Given the description of an element on the screen output the (x, y) to click on. 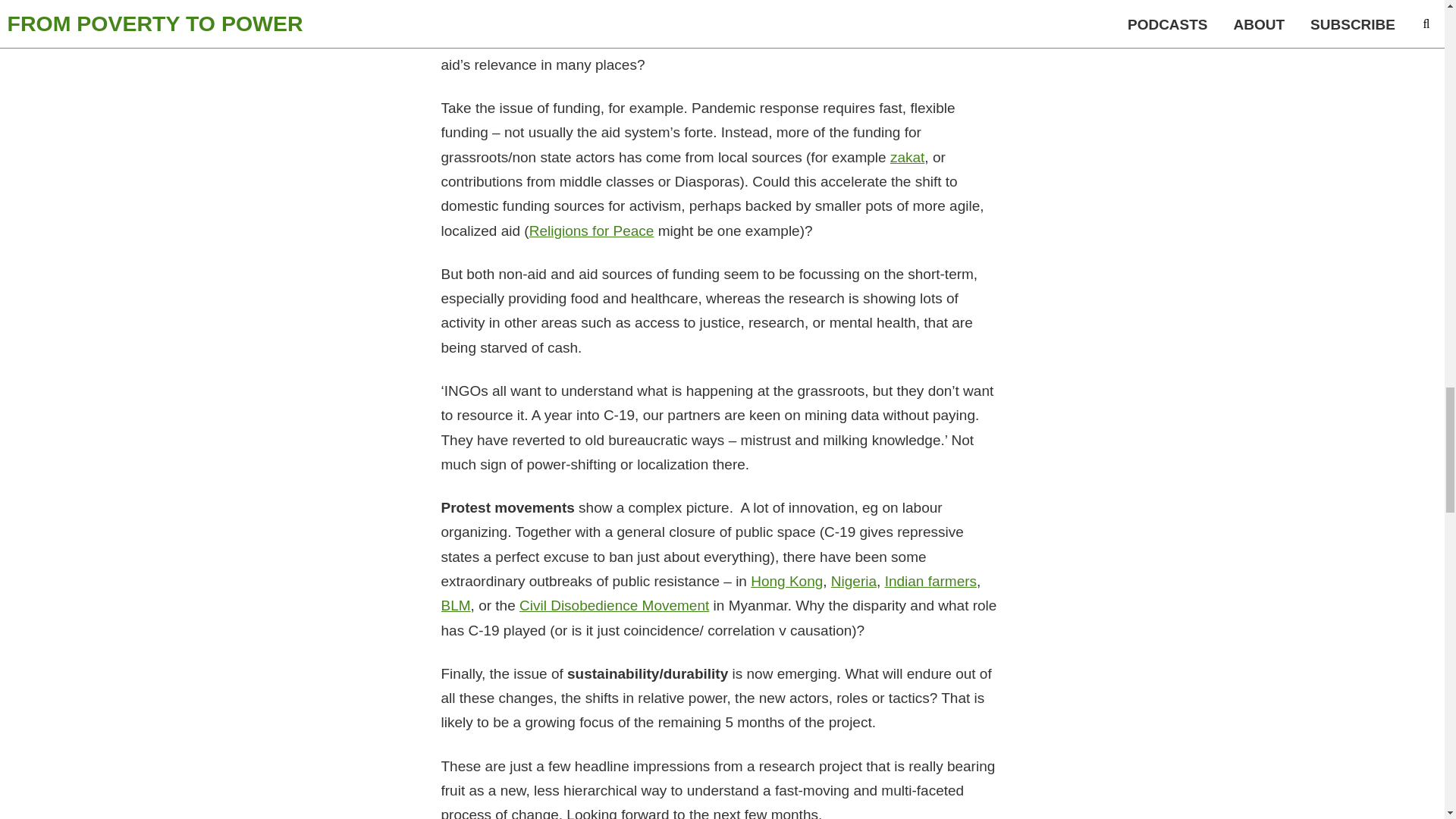
Nigeria (853, 580)
Religions for Peace (591, 230)
zakat (906, 157)
Indian farmers (930, 580)
BLM (455, 605)
Hong Kong (786, 580)
Civil Disobedience Movement (614, 605)
